Given the description of an element on the screen output the (x, y) to click on. 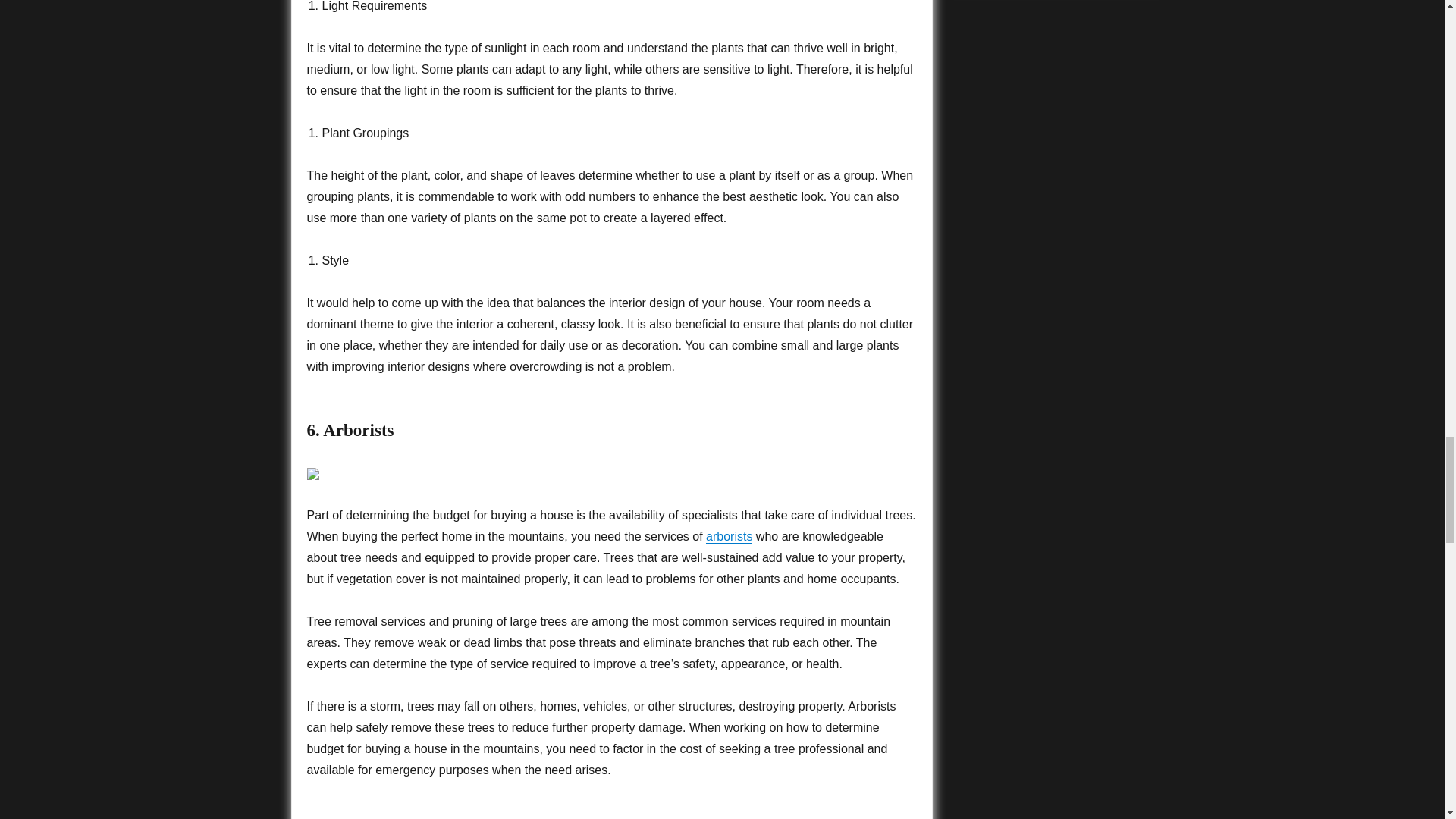
arborists (729, 535)
